Given the description of an element on the screen output the (x, y) to click on. 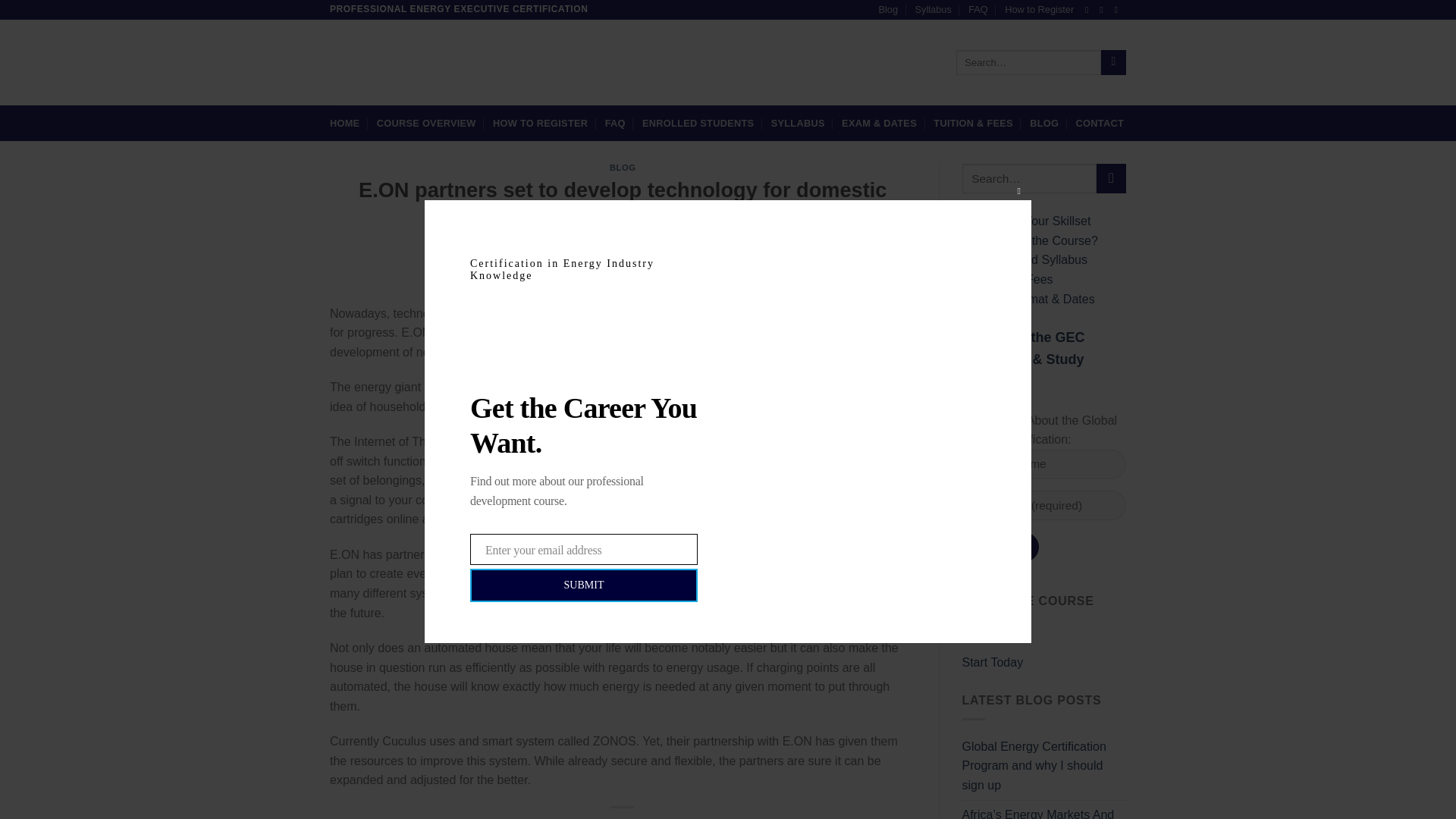
OCTOBER 30, 2017 (633, 261)
FAQ (978, 9)
BLOG (623, 166)
SYLLABUS (798, 122)
GEC (702, 261)
HOW TO REGISTER (540, 122)
How to Register (1039, 9)
Blog (887, 9)
COURSE OVERVIEW (426, 122)
